Given the description of an element on the screen output the (x, y) to click on. 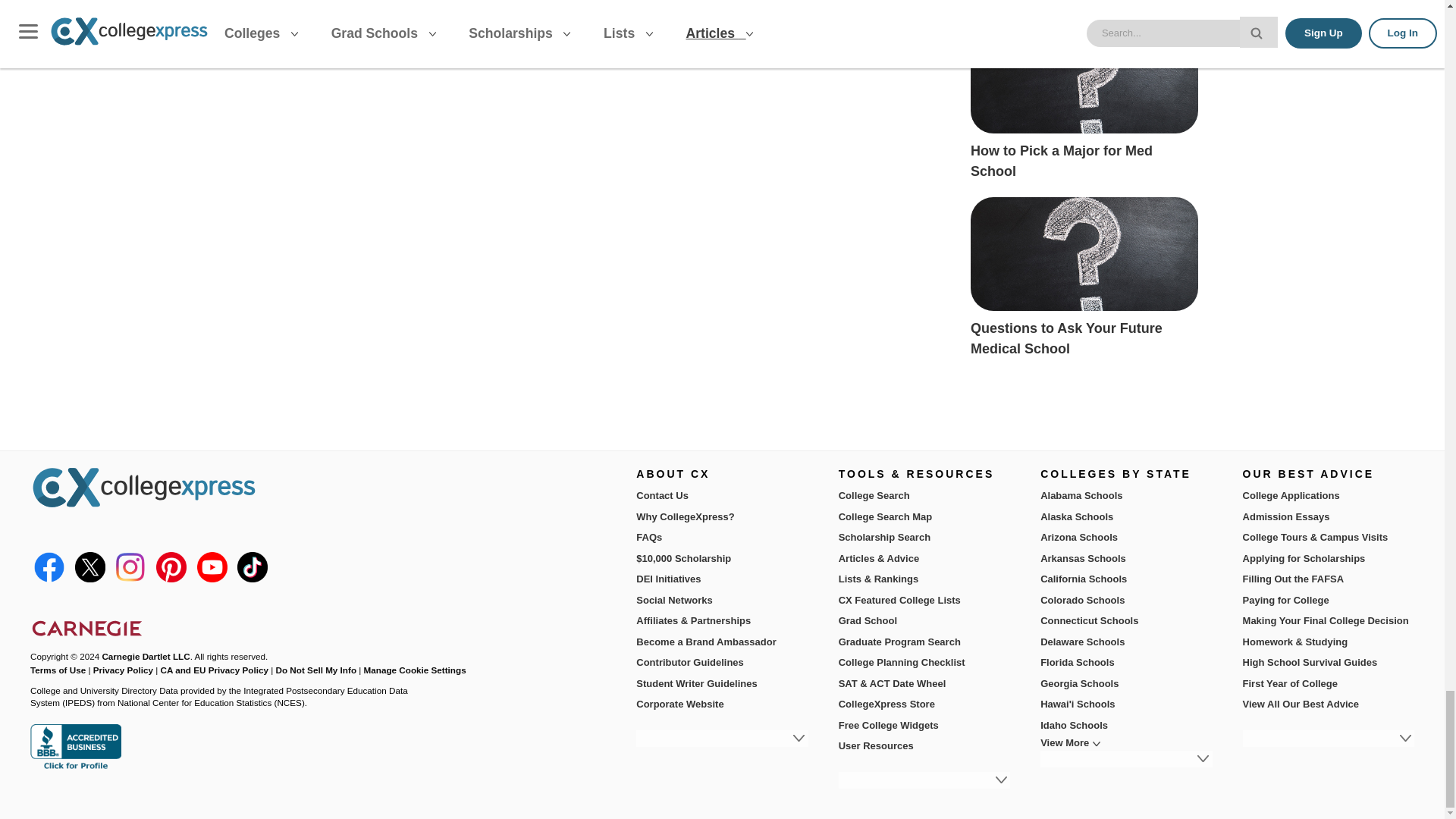
Carnegie Dartlet BBB Business Review (75, 767)
X, formerly known as Twitter (90, 578)
Instagram (130, 578)
Pinterest (171, 578)
TikTok (251, 578)
YouTube (211, 578)
Facebook (49, 578)
